Given the description of an element on the screen output the (x, y) to click on. 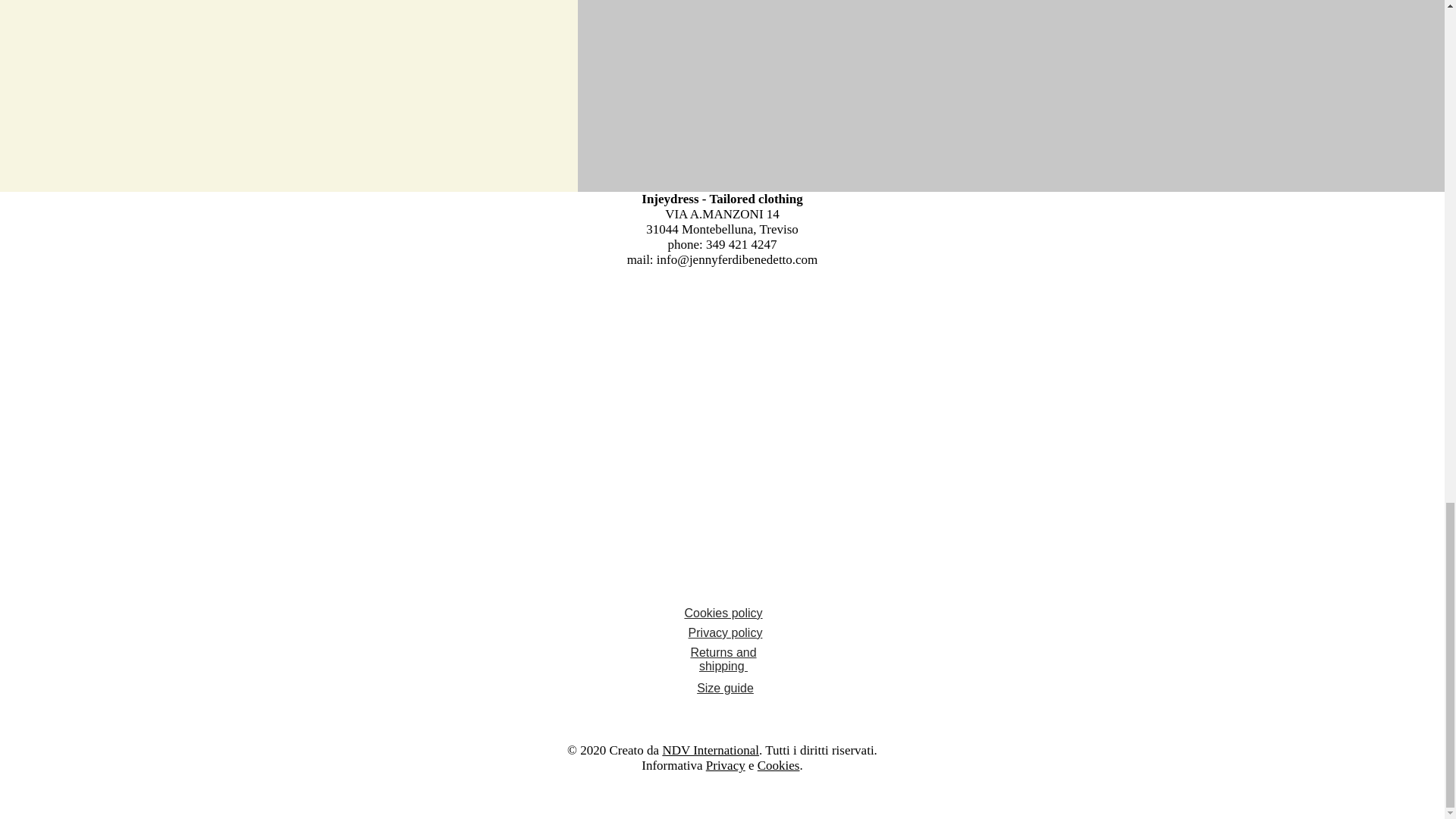
Privacy policy (725, 632)
Cookies policy (722, 612)
NDV International (710, 749)
Size guide (725, 687)
Returns and shipping  (722, 659)
Cookies (778, 765)
Privacy (725, 765)
